Given the description of an element on the screen output the (x, y) to click on. 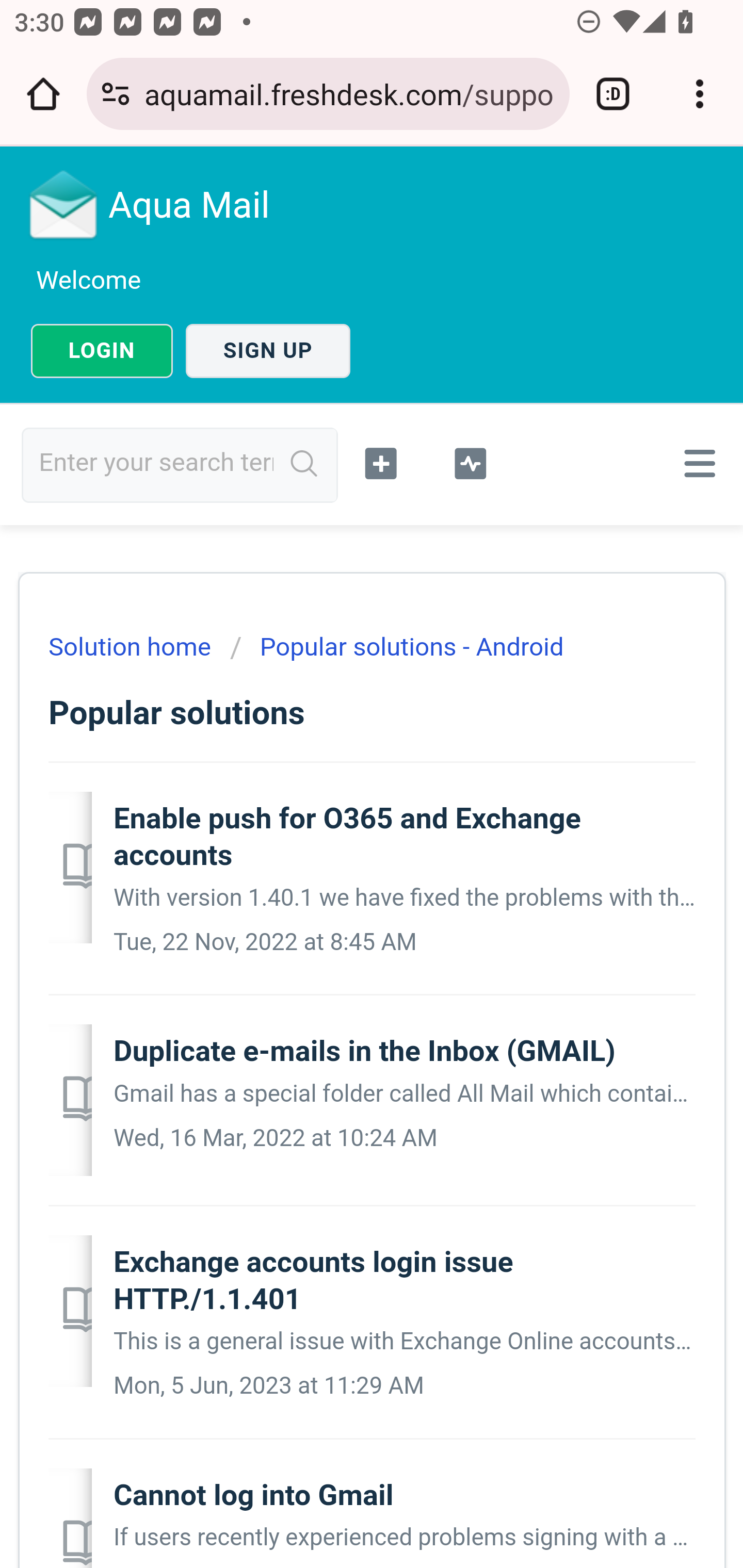
Open the home page (43, 93)
Connection is secure (115, 93)
Switch or close tabs (612, 93)
Customize and control Google Chrome (699, 93)
Logo (63, 204)
LOGIN (101, 351)
SIGN UP (268, 351)
 (695, 463)
Search (304, 464)
 (381, 460)
 (470, 460)
Solution home  (132, 646)
Enable push for O365 and Exchange accounts (346, 837)
Duplicate e-mails in the Inbox (GMAIL) (364, 1051)
Exchange accounts login issue HTTP./1.1.401 (313, 1280)
Cannot log into Gmail (253, 1495)
